Given the description of an element on the screen output the (x, y) to click on. 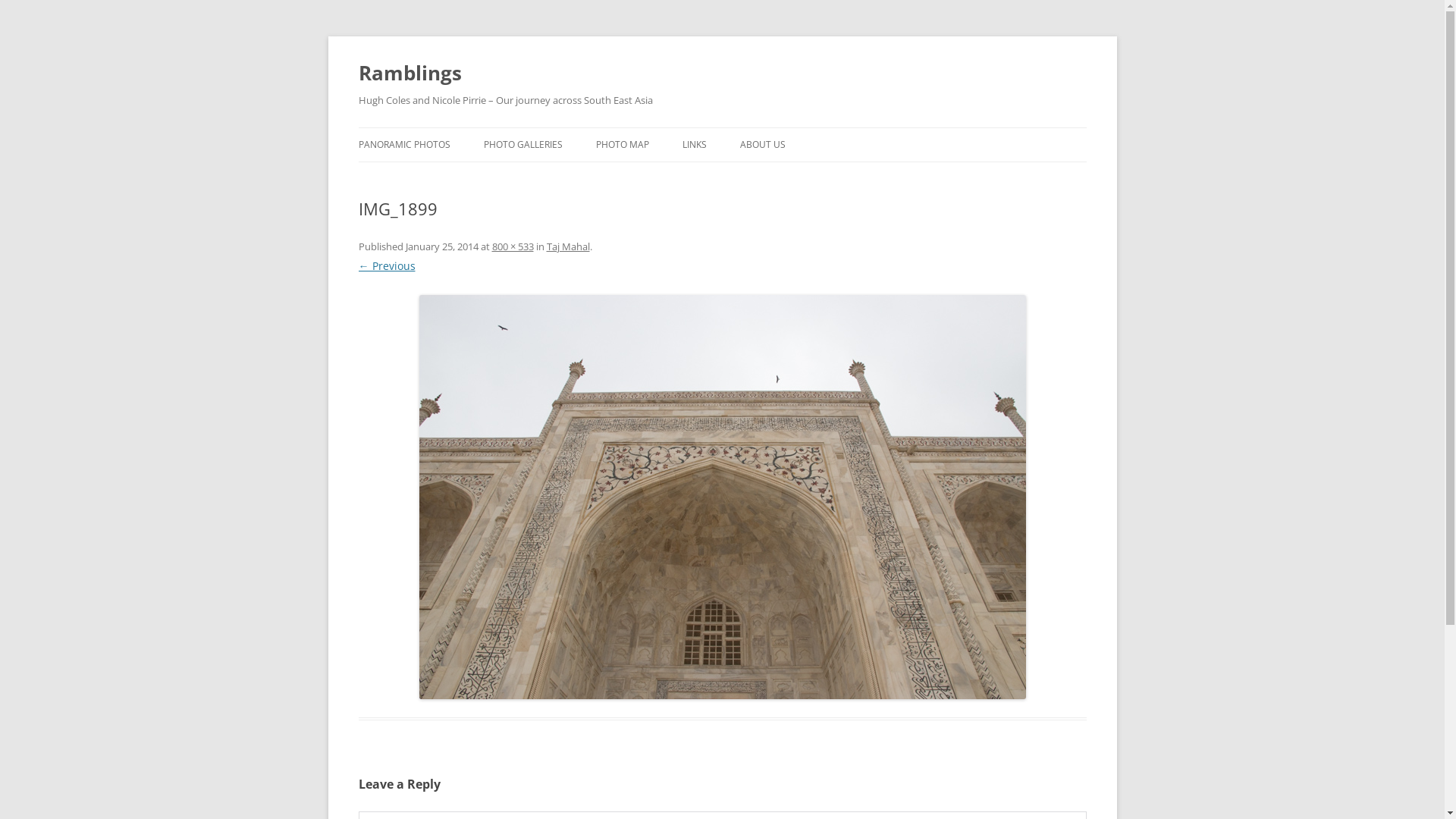
Skip to content Element type: text (721, 127)
PHOTO GALLERIES Element type: text (522, 144)
LINKS Element type: text (694, 144)
Taj Mahal Element type: text (567, 246)
Ramblings Element type: text (409, 72)
ABOUT US Element type: text (762, 144)
PHOTO MAP Element type: text (622, 144)
IMG_1899 Element type: hover (721, 496)
INDIA Element type: text (559, 176)
PANORAMIC PHOTOS Element type: text (403, 144)
